Given the description of an element on the screen output the (x, y) to click on. 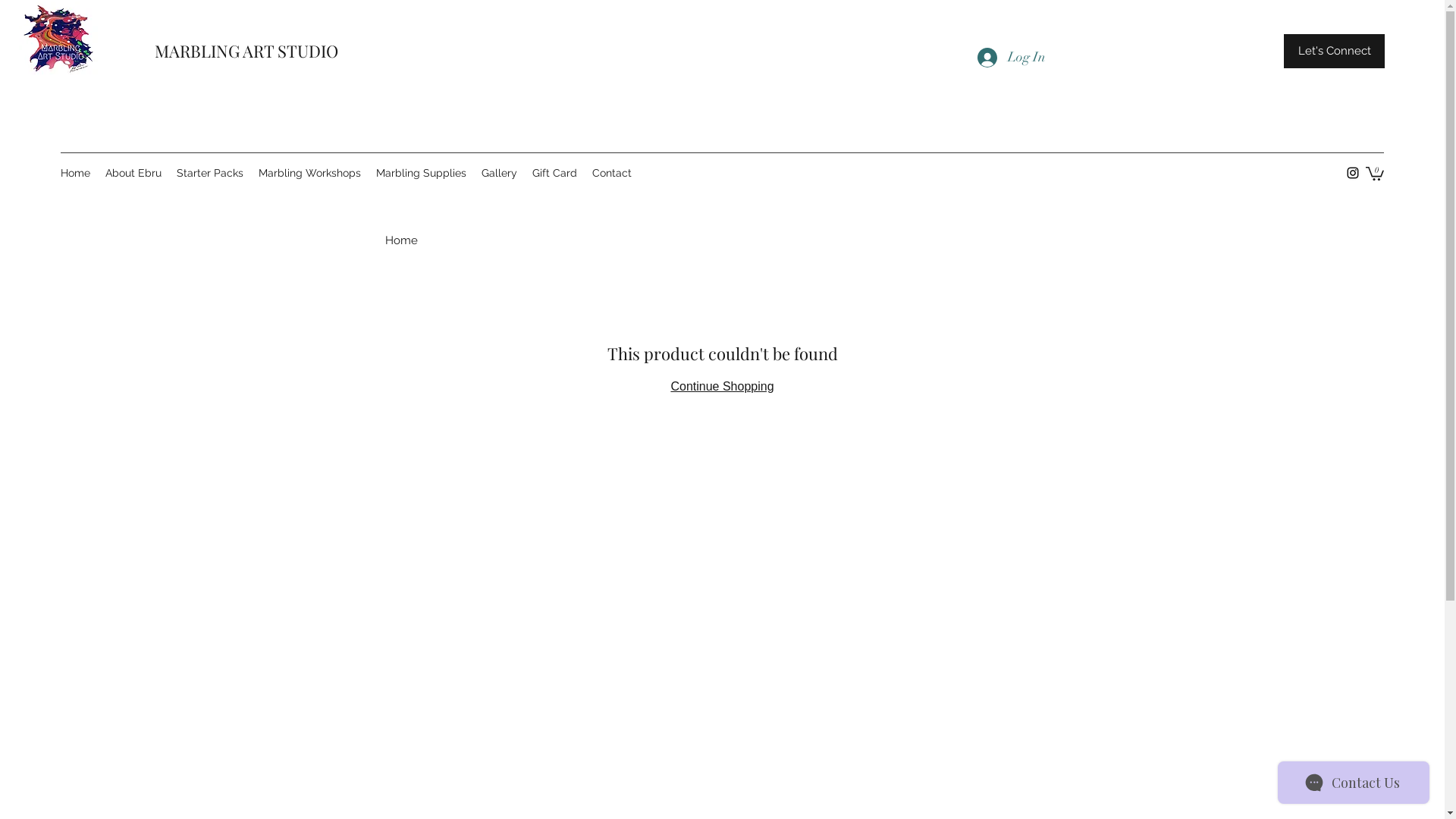
Gift Card Element type: text (554, 172)
Contact Element type: text (611, 172)
Home Element type: text (401, 240)
About Ebru Element type: text (133, 172)
Gallery Element type: text (498, 172)
Log In Element type: text (1010, 57)
0 Element type: text (1374, 172)
Starter Packs Element type: text (210, 172)
Marbling Workshops Element type: text (309, 172)
Home Element type: text (75, 172)
Marbling Supplies Element type: text (420, 172)
Continue Shopping Element type: text (721, 385)
Let's Connect Element type: text (1333, 51)
